Given the description of an element on the screen output the (x, y) to click on. 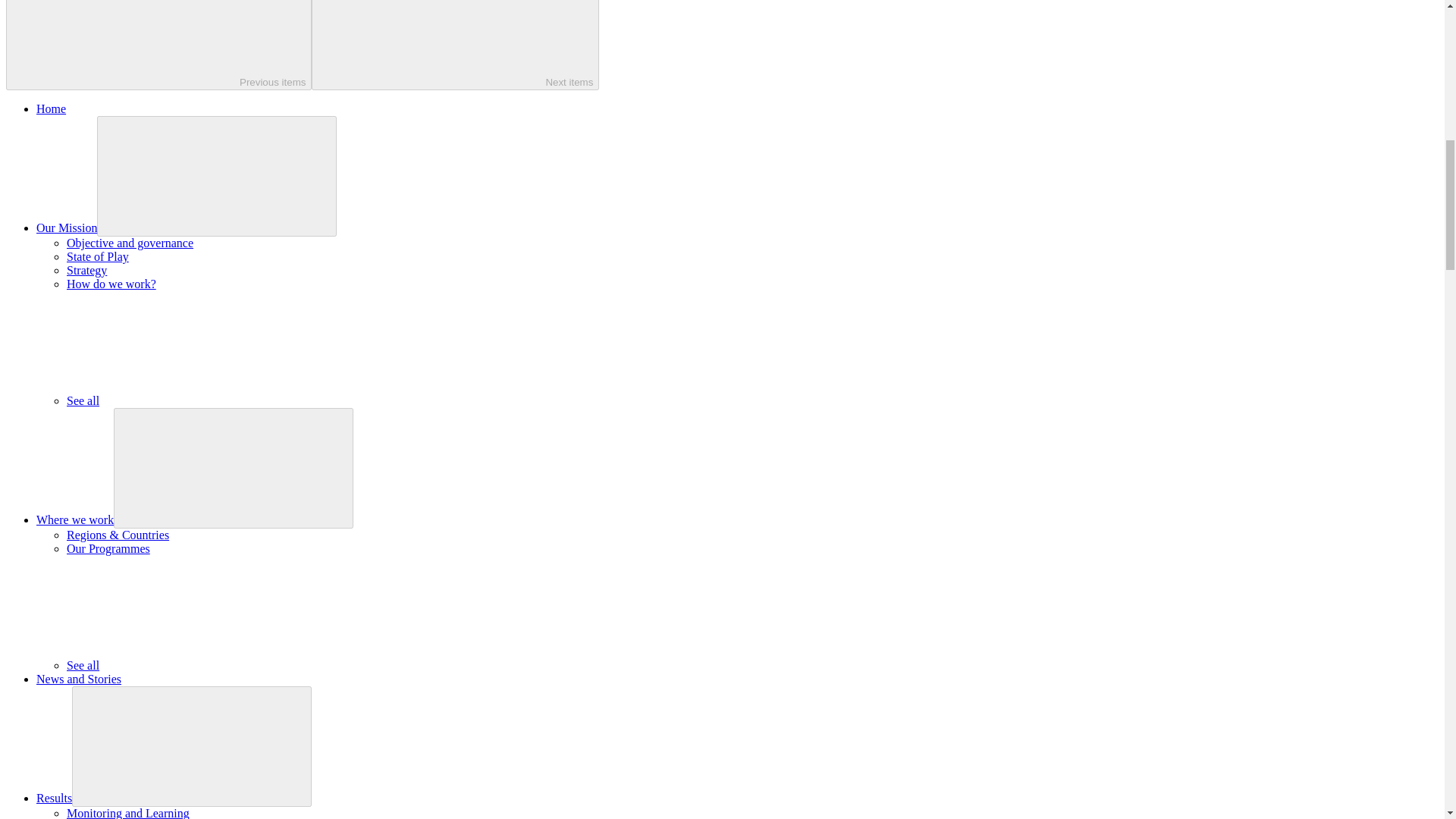
How do we work? (110, 283)
Strategy (86, 269)
See all (196, 665)
Home (50, 108)
Previous items (158, 45)
Objective and governance (129, 242)
Monitoring and Learning (127, 812)
News and Stories (78, 678)
Our Mission (66, 227)
Next items (454, 45)
See all (196, 400)
State of Play (97, 256)
Our Programmes (107, 548)
Where we work (74, 519)
Results (53, 797)
